Given the description of an element on the screen output the (x, y) to click on. 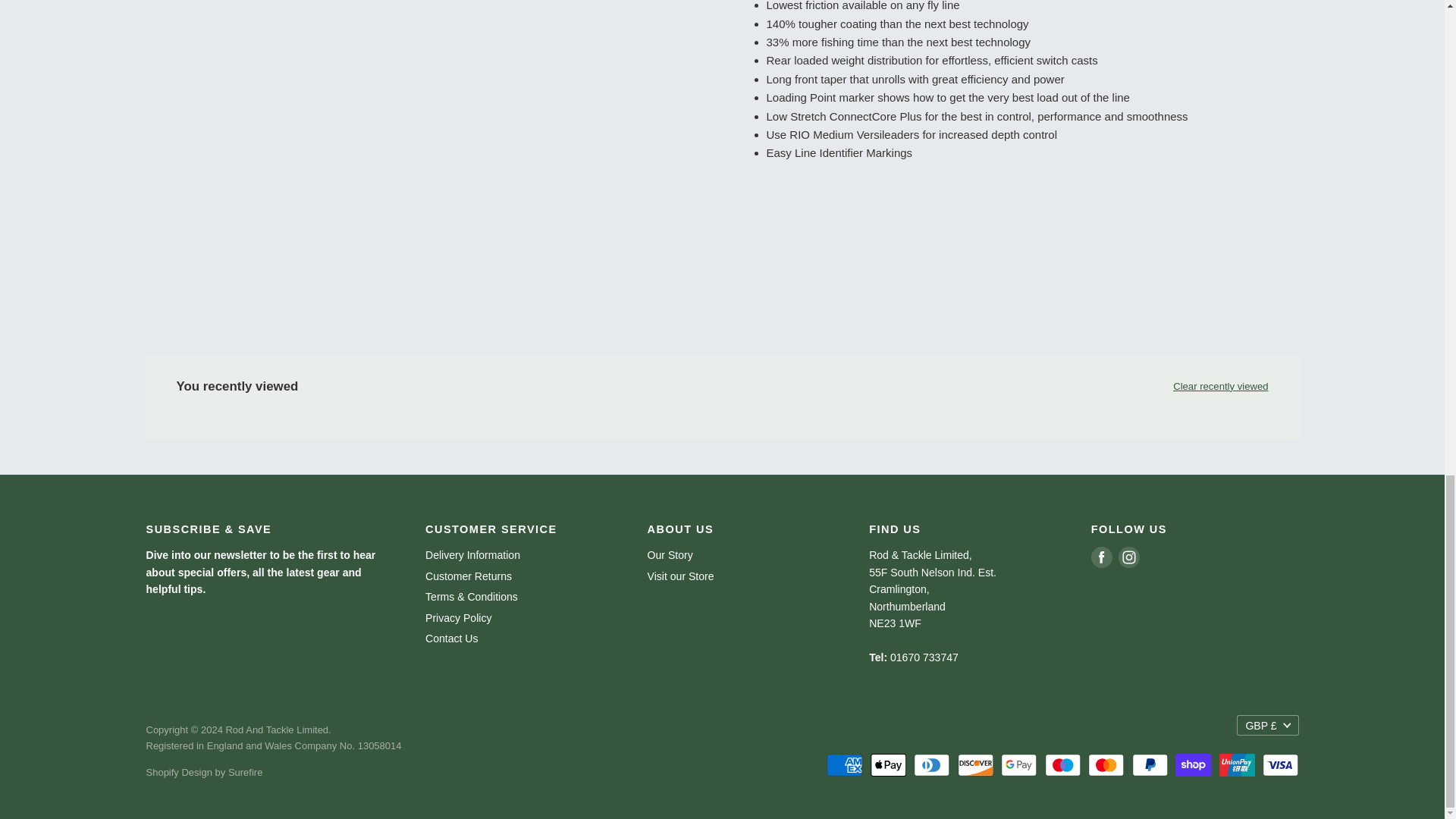
Facebook (1101, 556)
Instagram (1128, 556)
